Given the description of an element on the screen output the (x, y) to click on. 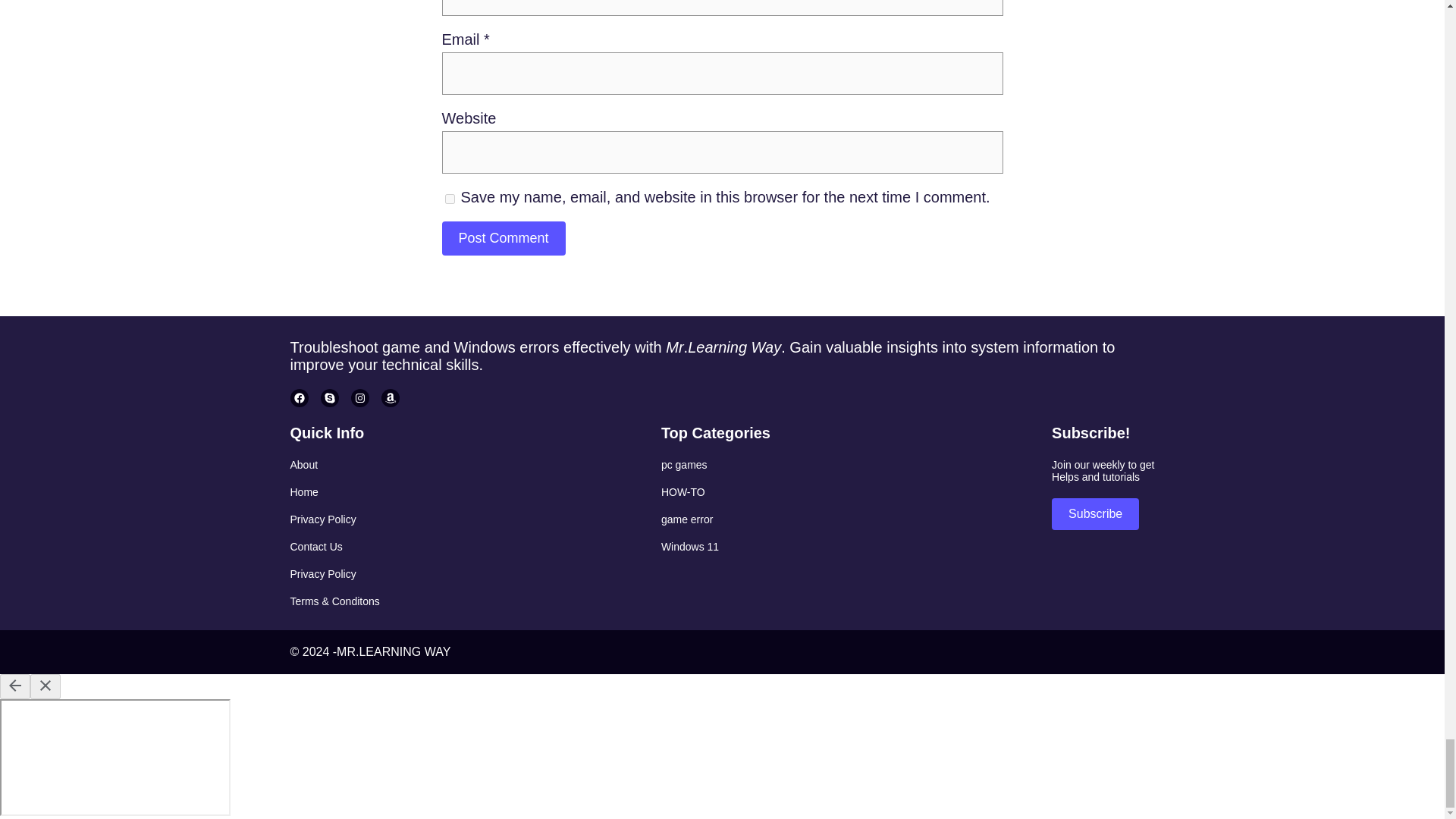
yes (449, 198)
Post Comment (502, 238)
